Given the description of an element on the screen output the (x, y) to click on. 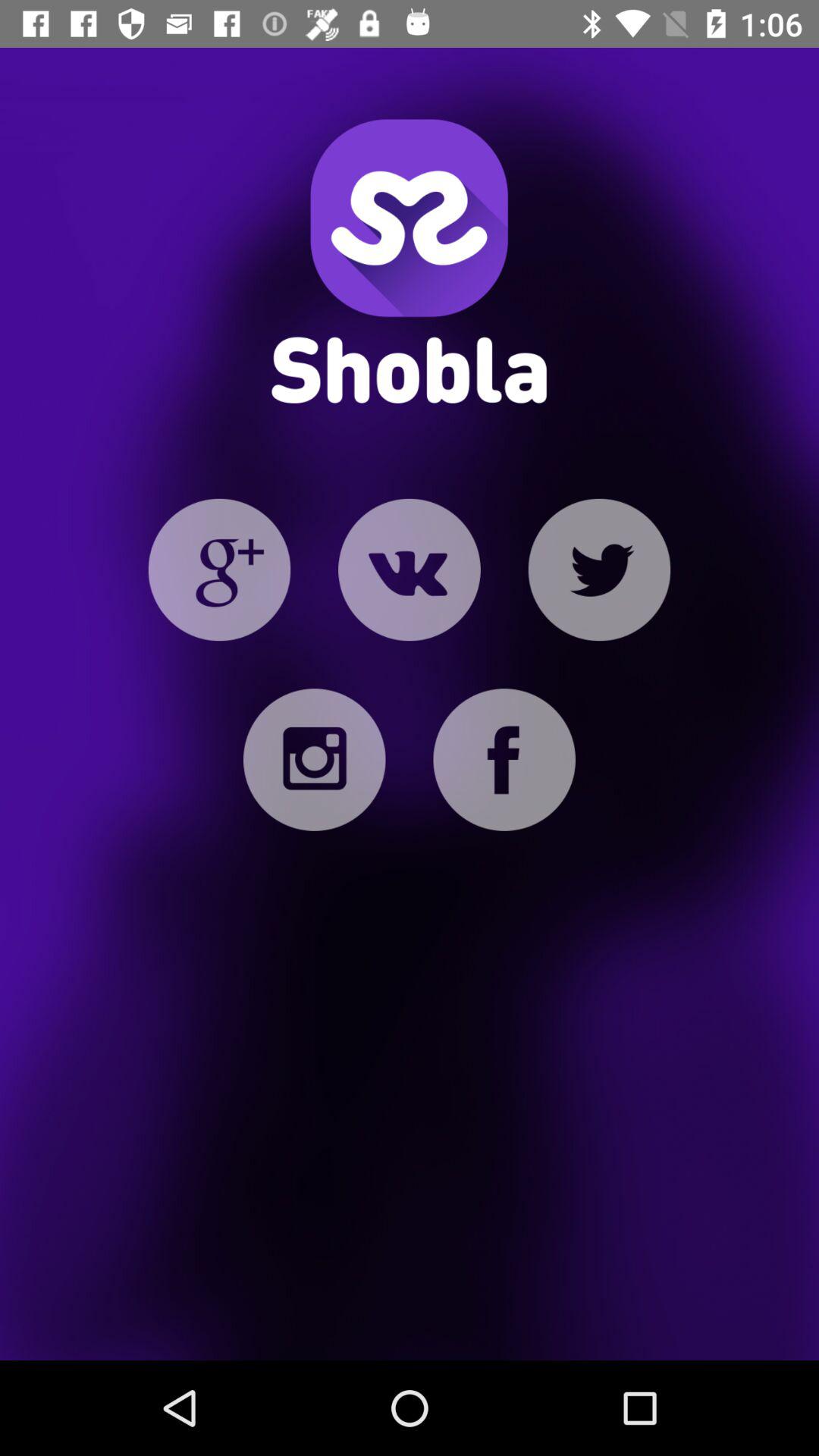
click to facebook (504, 759)
